Given the description of an element on the screen output the (x, y) to click on. 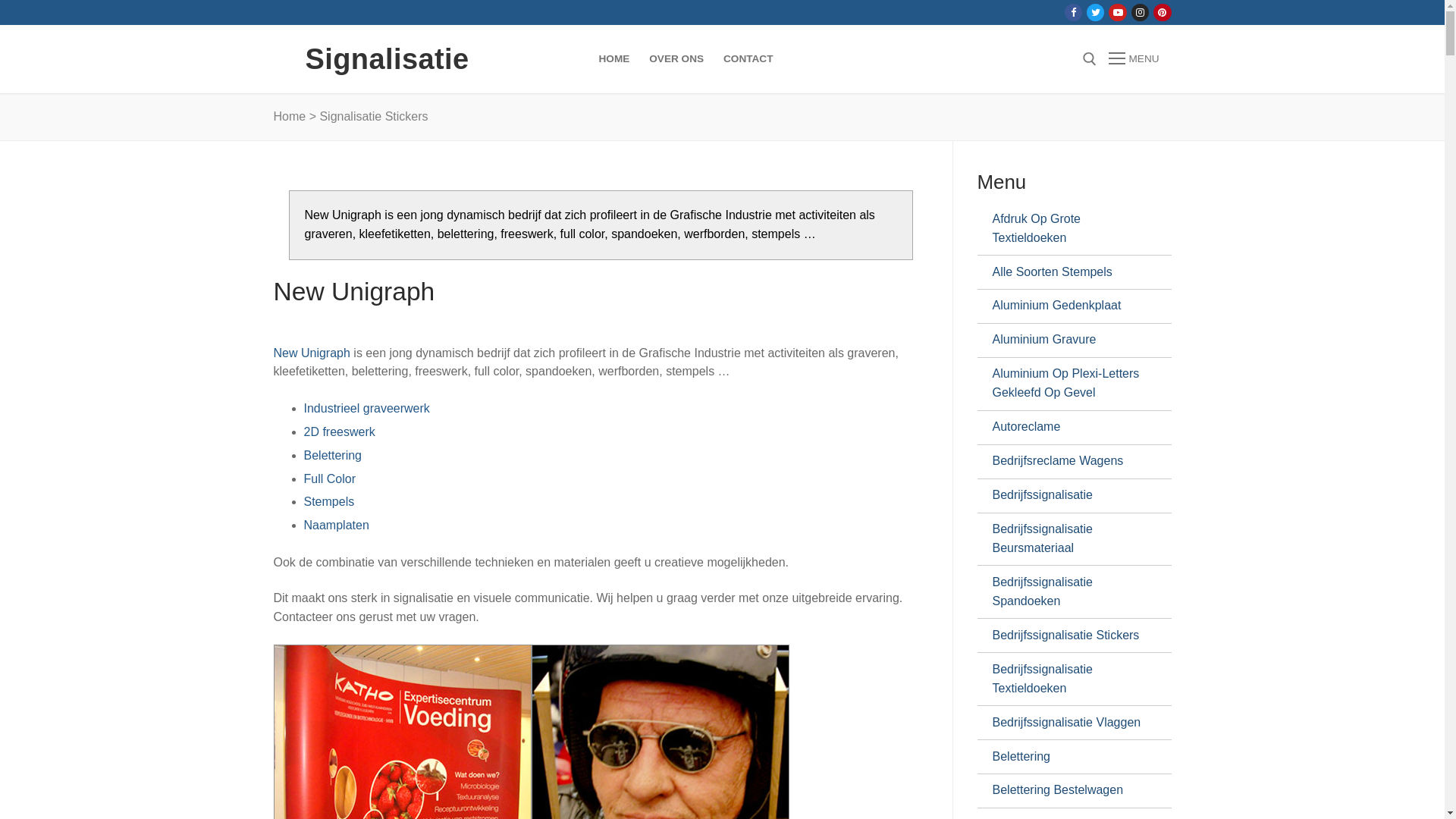
Belettering Bestelwagen Element type: text (1067, 790)
Instagram Element type: hover (1140, 12)
Bedrijfssignalisatie Beursmateriaal Element type: text (1067, 539)
Bedrijfssignalisatie Spandoeken Element type: text (1067, 591)
Afdruk Op Grote Textieldoeken Element type: text (1067, 228)
Twitter Element type: hover (1095, 12)
Signalisatie Element type: text (386, 58)
Aluminium Op Plexi-Letters Gekleefd Op Gevel Element type: text (1067, 383)
Pinterest Element type: hover (1162, 12)
Spring naar de inhoud Element type: text (0, 0)
Aluminium Gedenkplaat Element type: text (1067, 306)
Autoreclame Element type: text (1067, 427)
Aluminium Gravure Element type: text (1067, 340)
Bedrijfsreclame Wagens Element type: text (1067, 461)
Bedrijfssignalisatie Element type: text (1067, 495)
MENU Element type: text (1133, 59)
2D freeswerk Element type: text (338, 431)
Stempels Element type: text (328, 501)
OVER ONS Element type: text (676, 58)
Alle Soorten Stempels Element type: text (1067, 271)
Bedrijfssignalisatie Stickers Element type: text (1067, 635)
HOME Element type: text (613, 58)
Bedrijfssignalisatie Textieldoeken Element type: text (1067, 678)
CONTACT Element type: text (747, 58)
Belettering Element type: text (1067, 756)
Youtube Element type: hover (1118, 12)
Facebook Element type: hover (1073, 12)
Bedrijfssignalisatie Vlaggen Element type: text (1067, 722)
New Unigraph Element type: text (311, 352)
Full Color Element type: text (328, 478)
Naamplaten Element type: text (335, 524)
Belettering Element type: text (332, 454)
Industrieel graveerwerk Element type: text (366, 407)
